Given the description of an element on the screen output the (x, y) to click on. 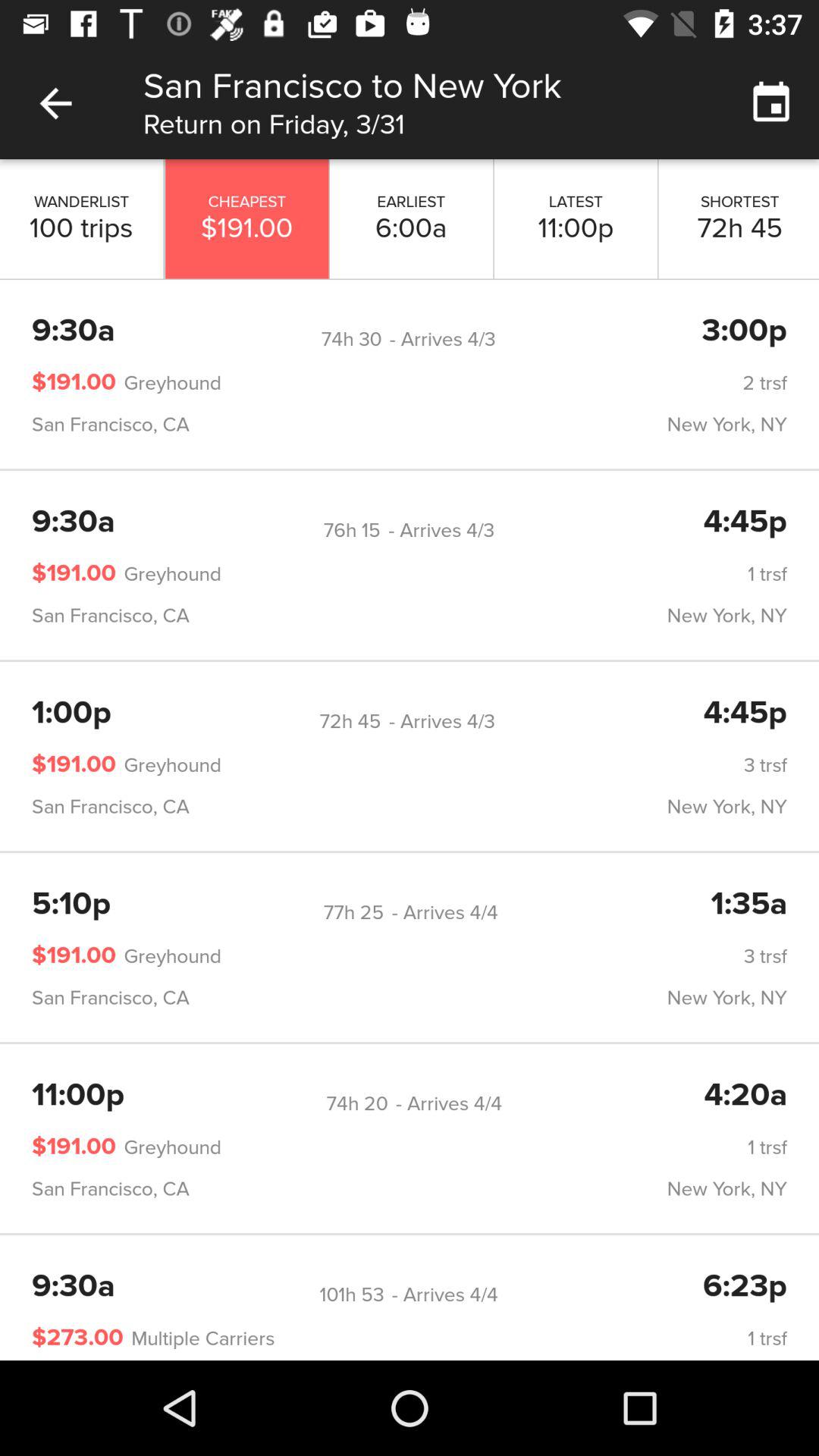
select the icon to the left of the san francisco to icon (55, 103)
